Given the description of an element on the screen output the (x, y) to click on. 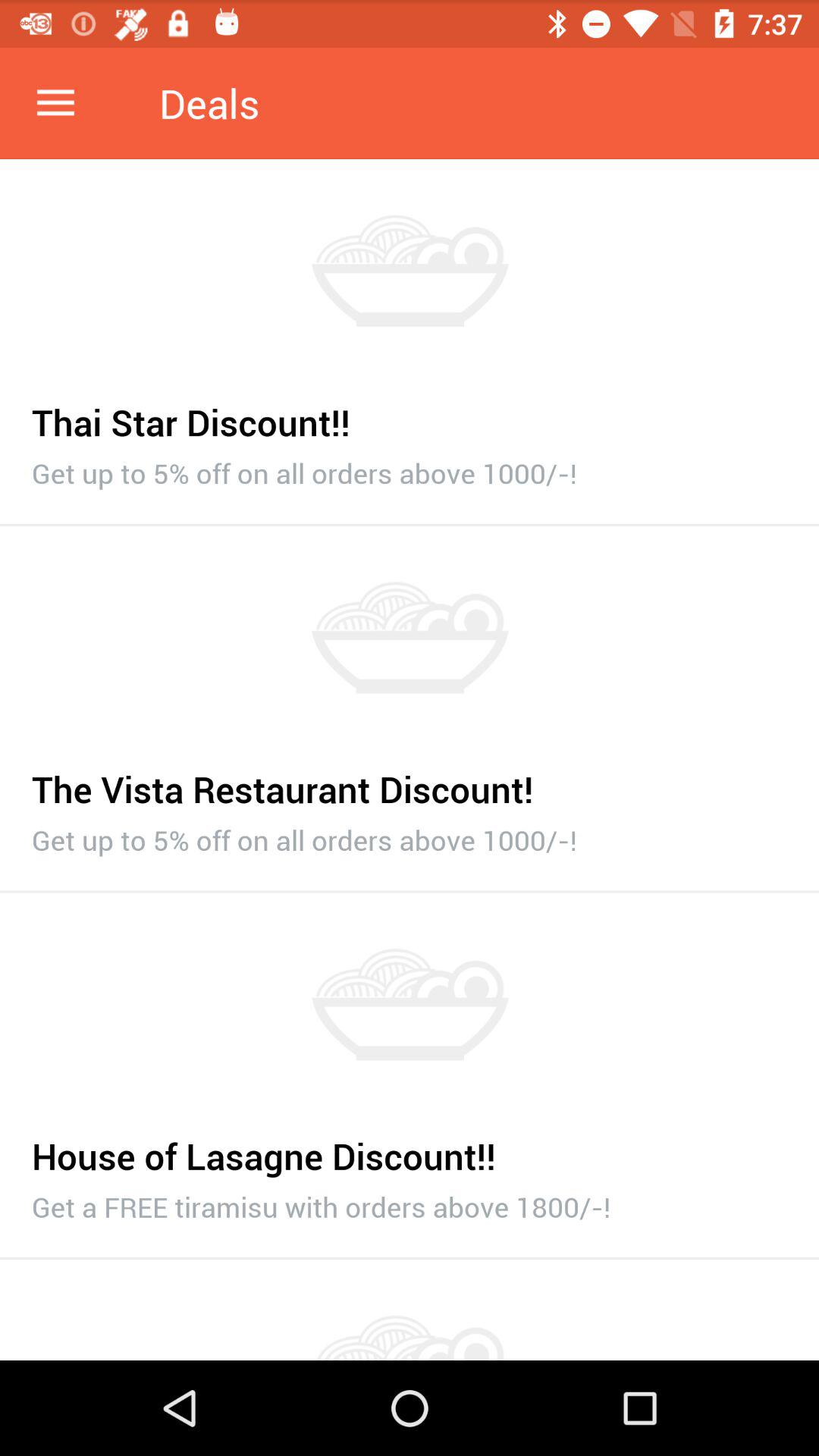
click the item to the left of deals item (55, 103)
